Given the description of an element on the screen output the (x, y) to click on. 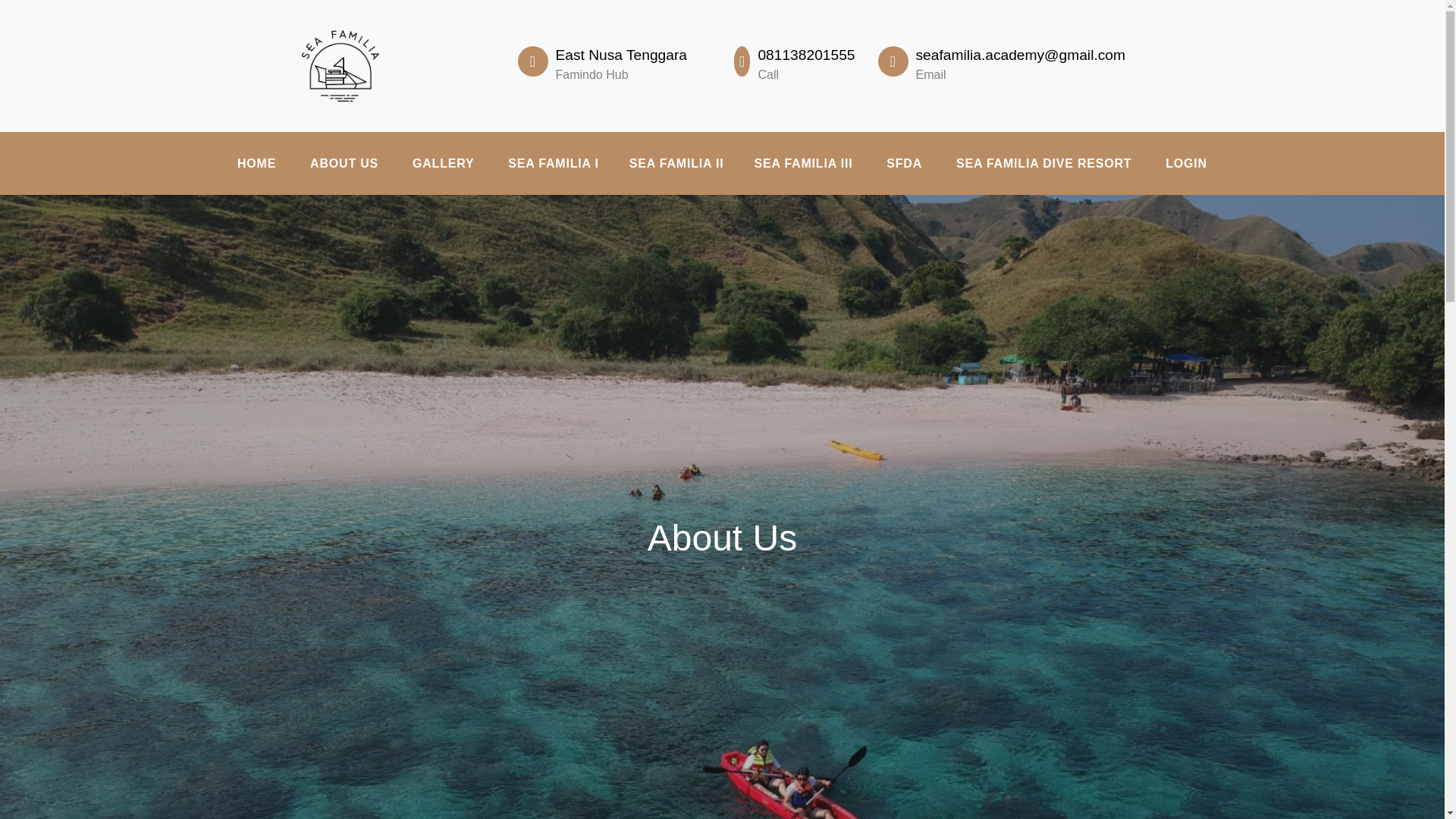
HOME (256, 163)
LOGIN (1186, 163)
SEA FAMILIA II (676, 163)
SEA FAMILIA DIVE RESORT (1043, 163)
GALLERY (443, 163)
SFDA (903, 163)
SEA FAMILIA I (552, 163)
ABOUT US (344, 163)
SEA FAMILIA III (802, 163)
